Given the description of an element on the screen output the (x, y) to click on. 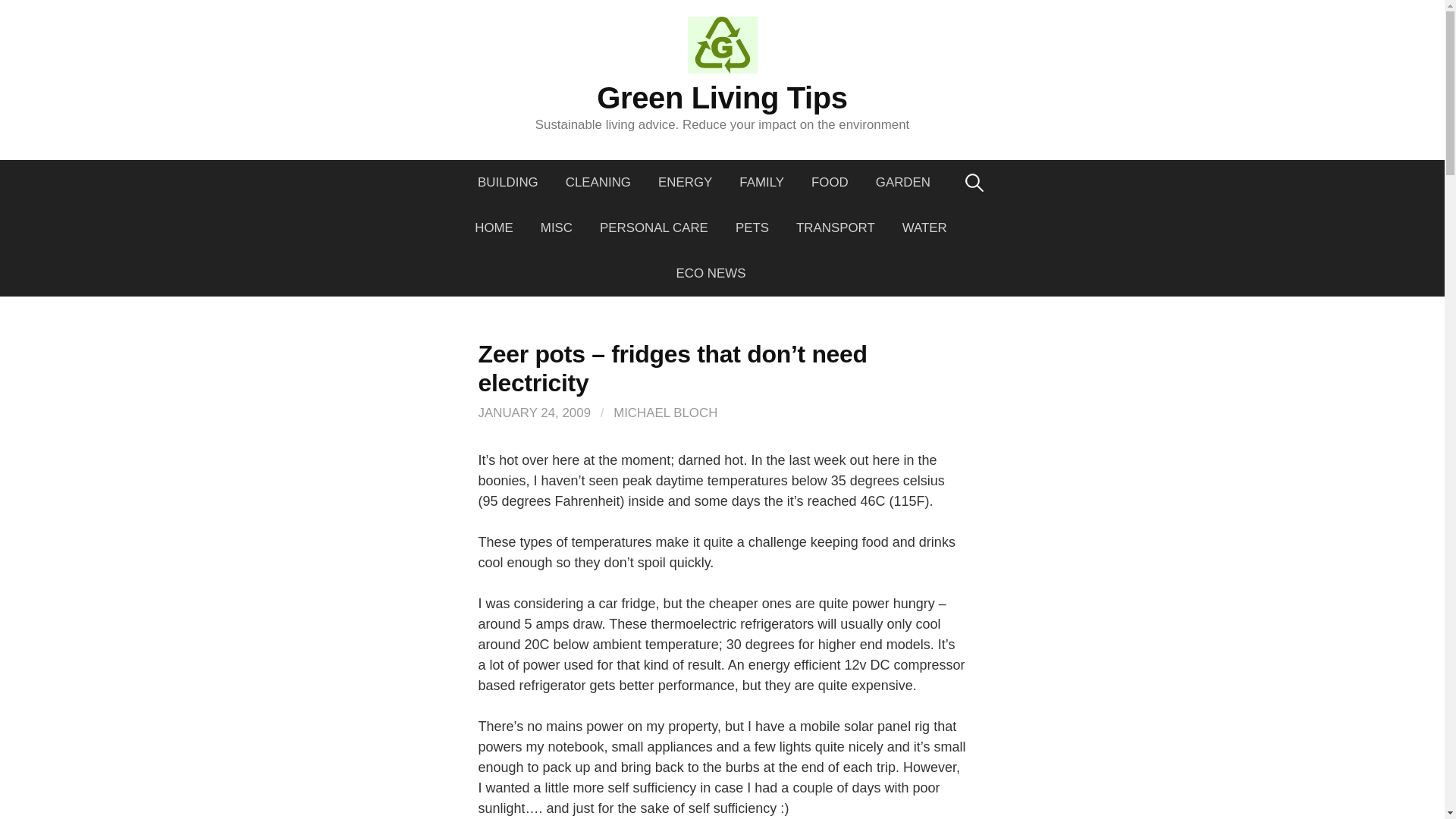
BUILDING (514, 182)
HOME (494, 227)
MICHAEL BLOCH (664, 412)
FOOD (829, 182)
Search (16, 16)
CLEANING (598, 182)
ECO NEWS (711, 273)
ENERGY (685, 182)
PETS (752, 227)
JANUARY 24, 2009 (534, 412)
